Given the description of an element on the screen output the (x, y) to click on. 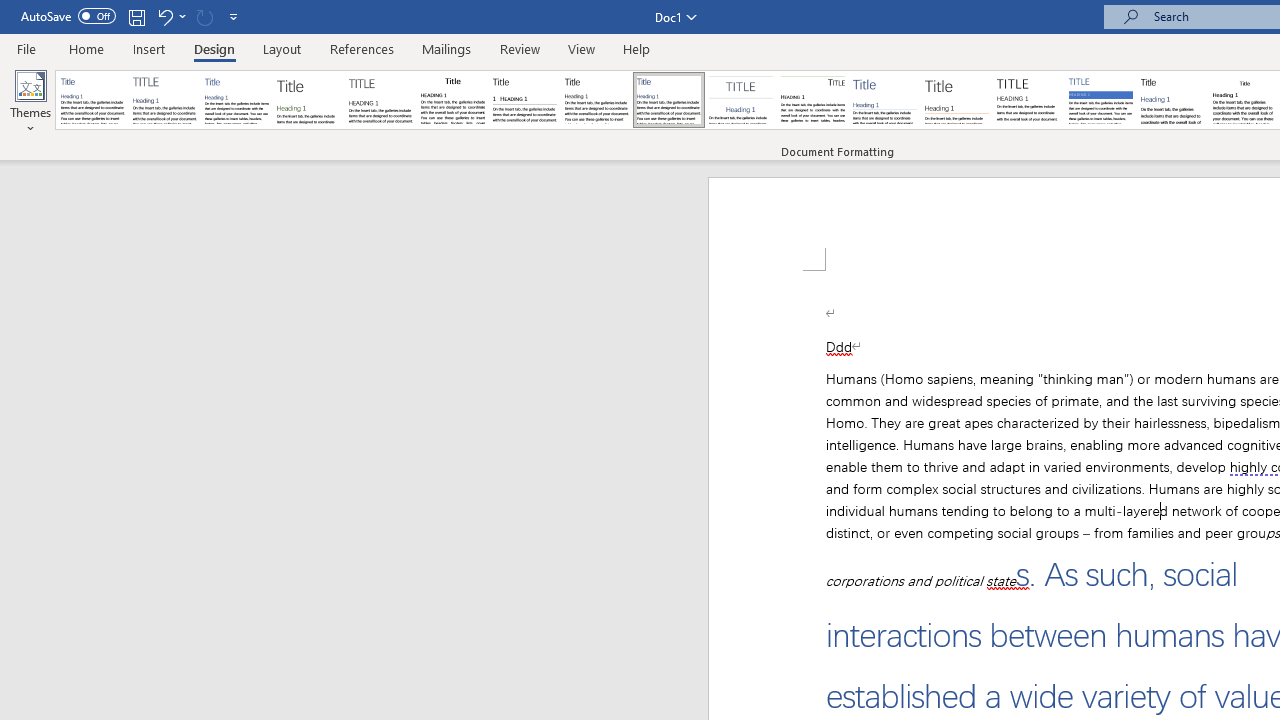
Black & White (Classic) (452, 100)
Basic (Stylish) (308, 100)
